Given the description of an element on the screen output the (x, y) to click on. 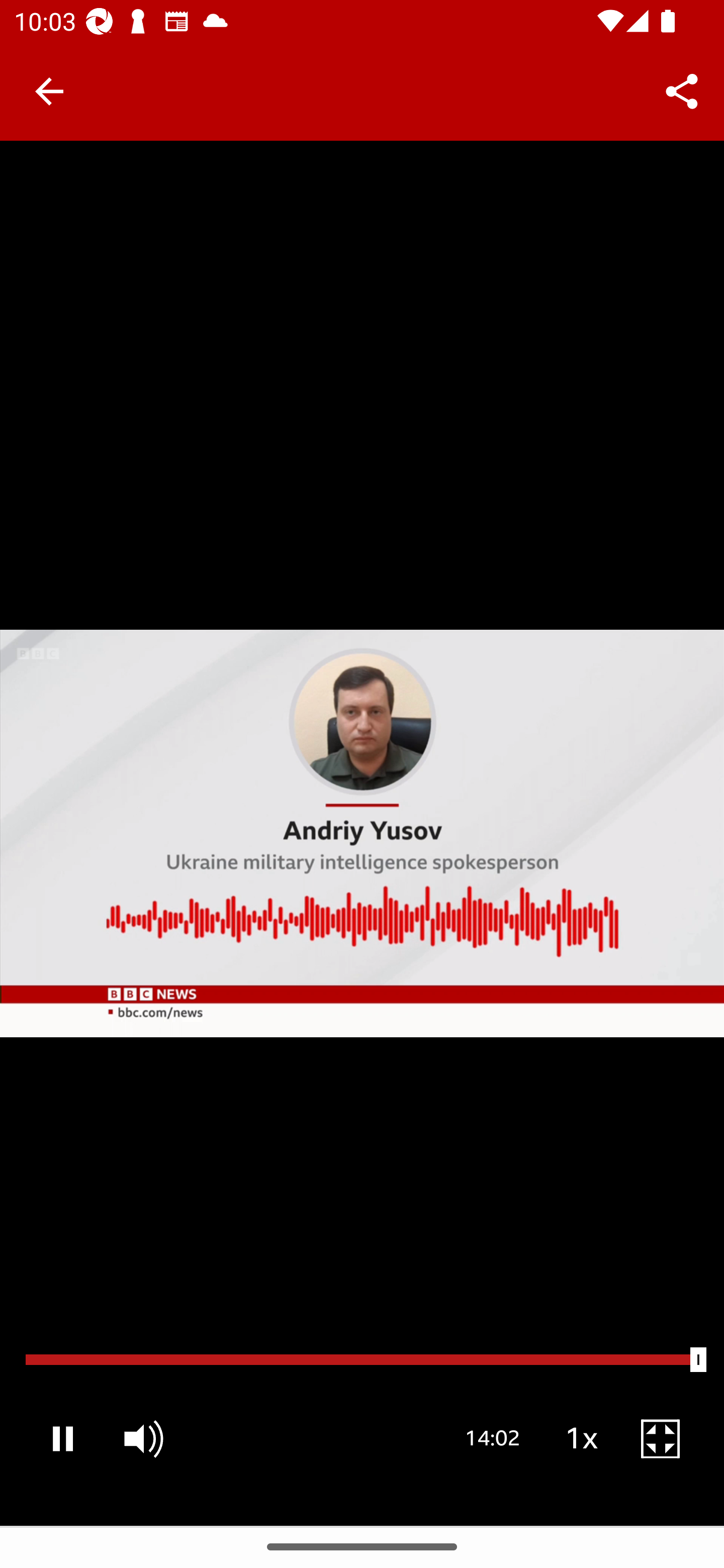
Back (49, 91)
Share (681, 90)
